Given the description of an element on the screen output the (x, y) to click on. 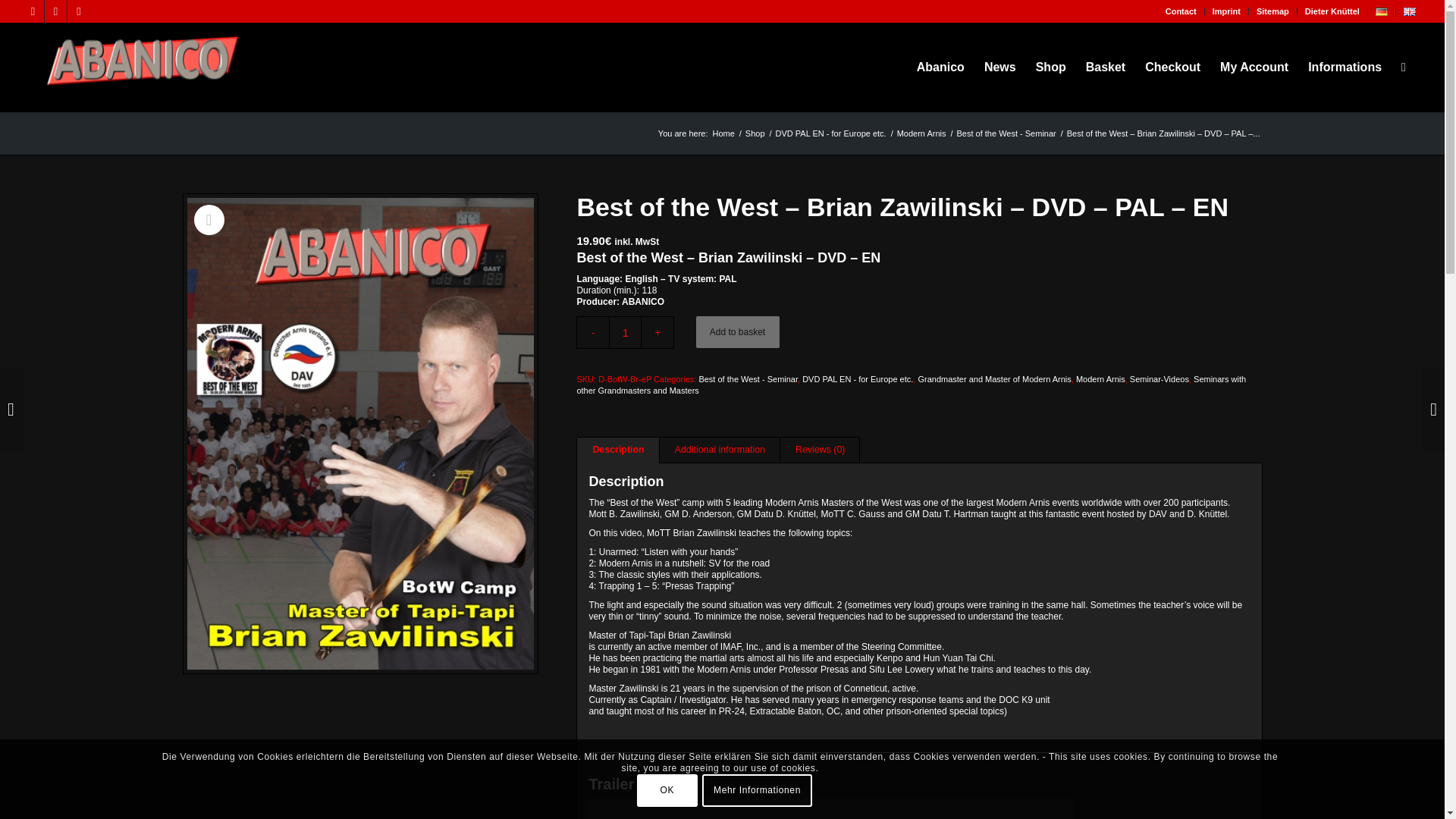
Flickr (78, 11)
Sitemap (1272, 11)
Shop (1050, 67)
News (1000, 67)
Modern Arnis (922, 133)
DVD PAL EN - for Europe etc. (830, 133)
Additional information (719, 449)
- (592, 332)
Imprint (1226, 11)
Description (617, 449)
Contact (1181, 11)
1 (625, 332)
Facebook (32, 11)
Abanico (940, 67)
